Given the description of an element on the screen output the (x, y) to click on. 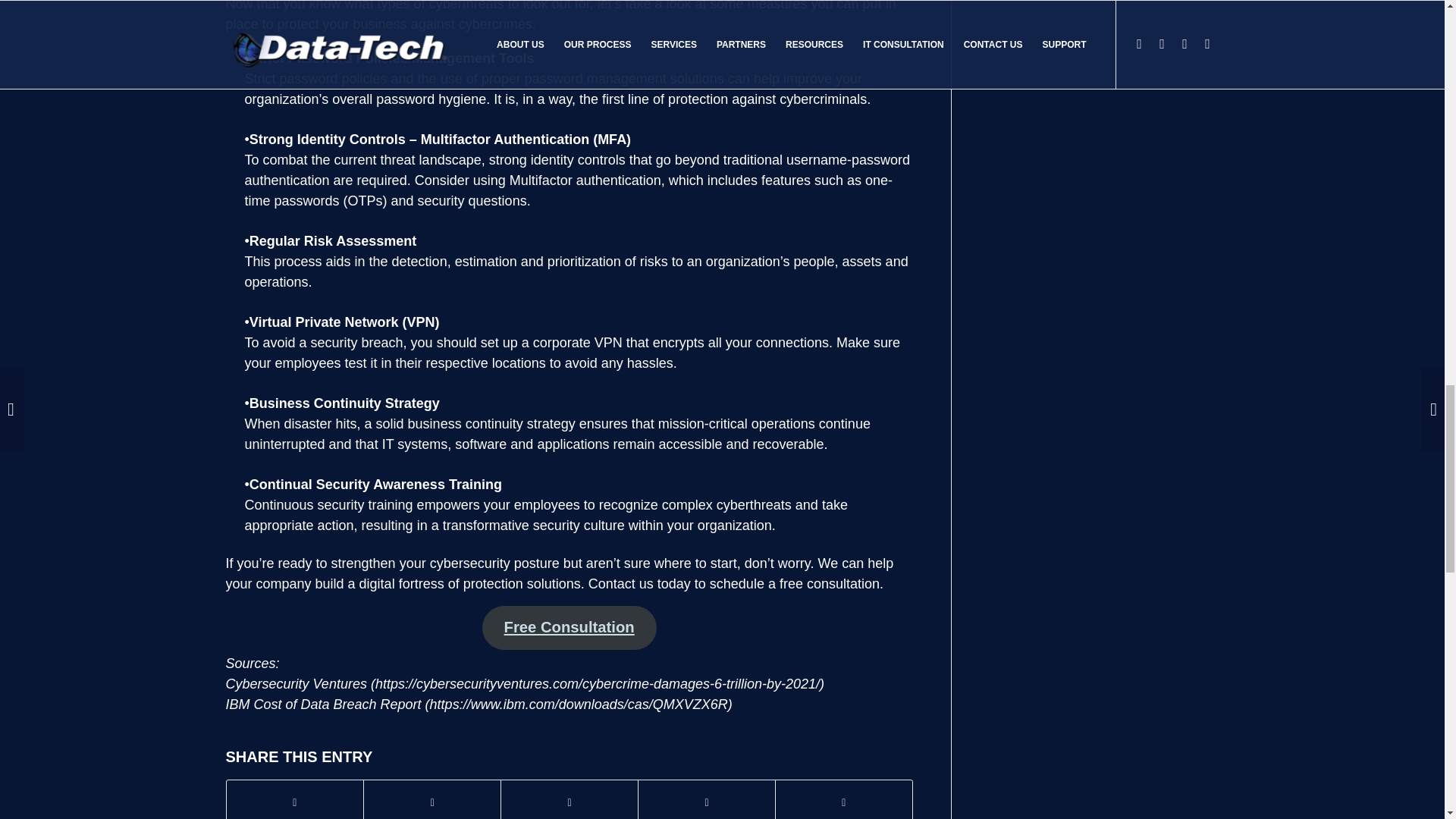
Free Consultation (568, 628)
